Given the description of an element on the screen output the (x, y) to click on. 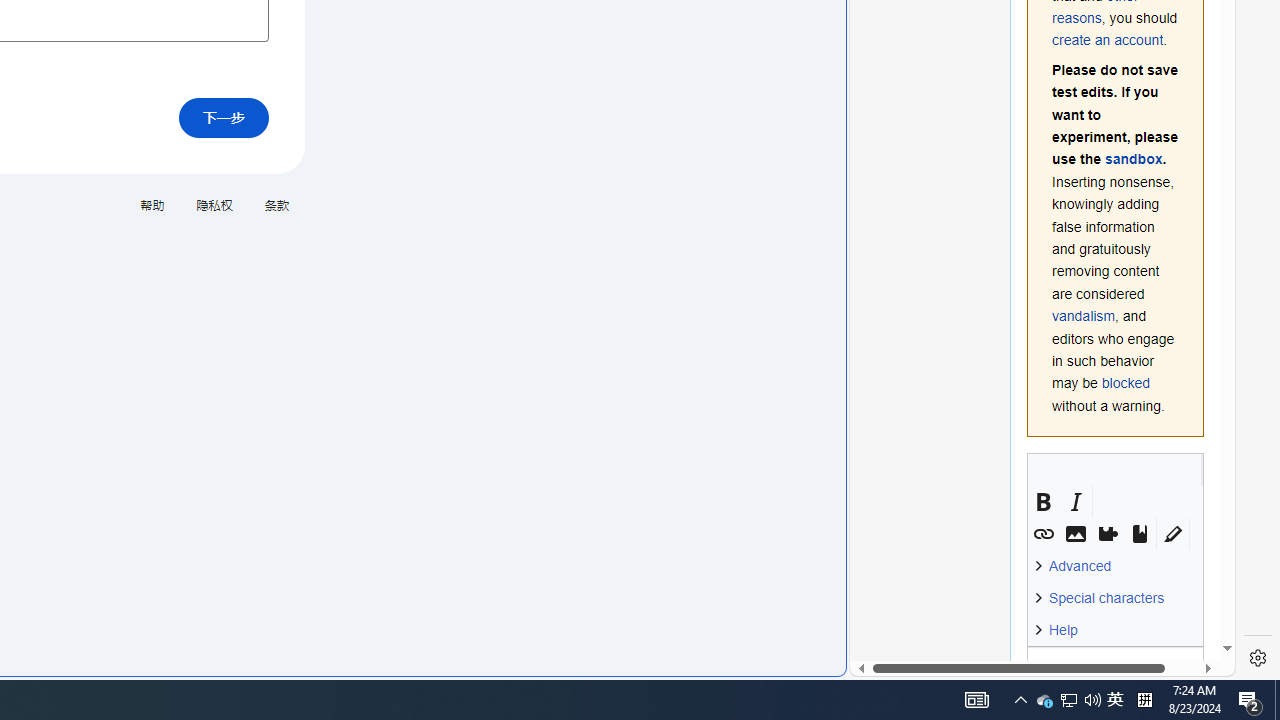
vandalism (1084, 316)
Images and media (1075, 533)
sandbox (1133, 159)
create an account (1107, 39)
